Given the description of an element on the screen output the (x, y) to click on. 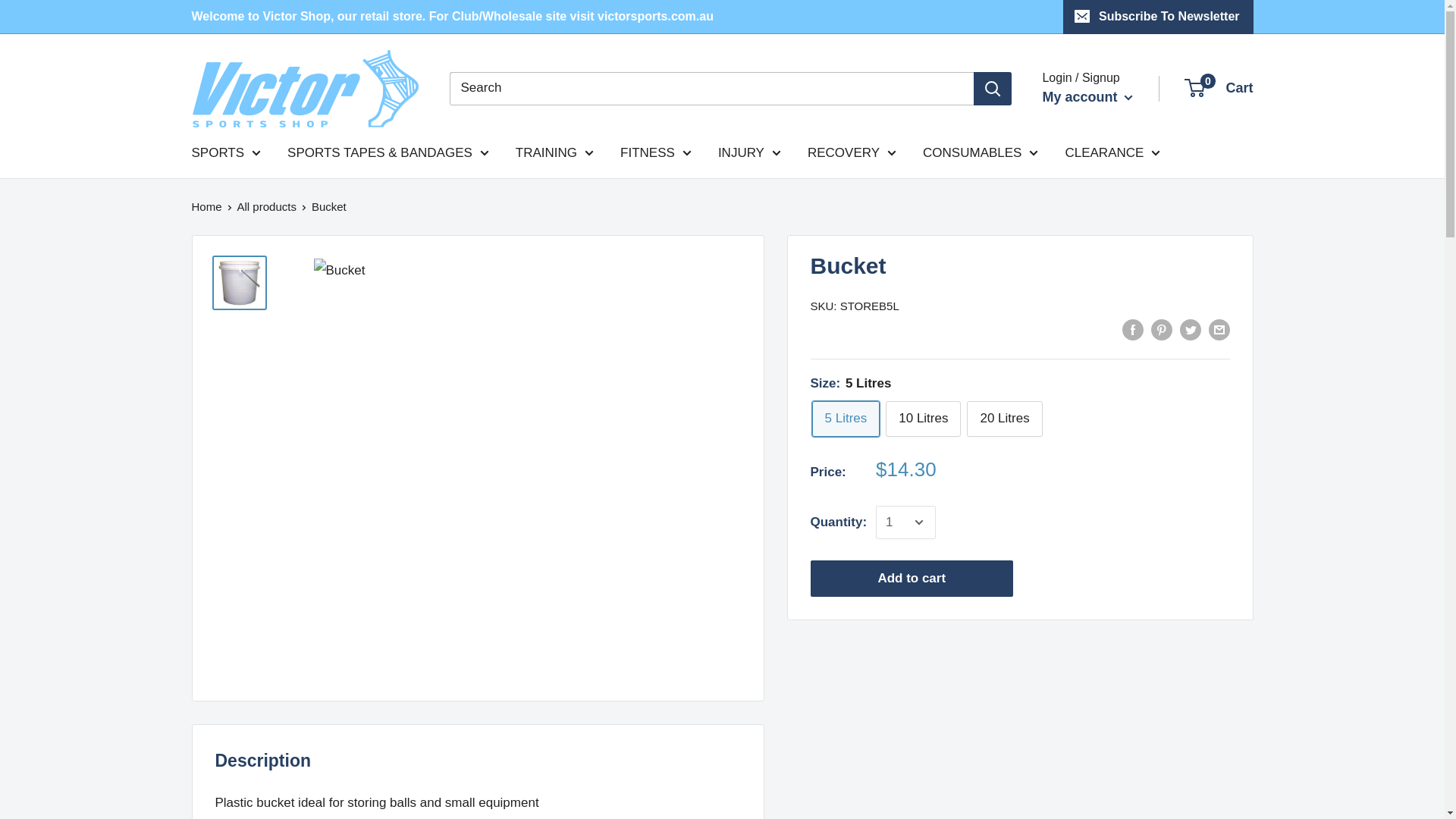
5 Litres (844, 418)
10 Litres (922, 418)
Subscribe To Newsletter (1157, 16)
20 Litres (1004, 418)
